Given the description of an element on the screen output the (x, y) to click on. 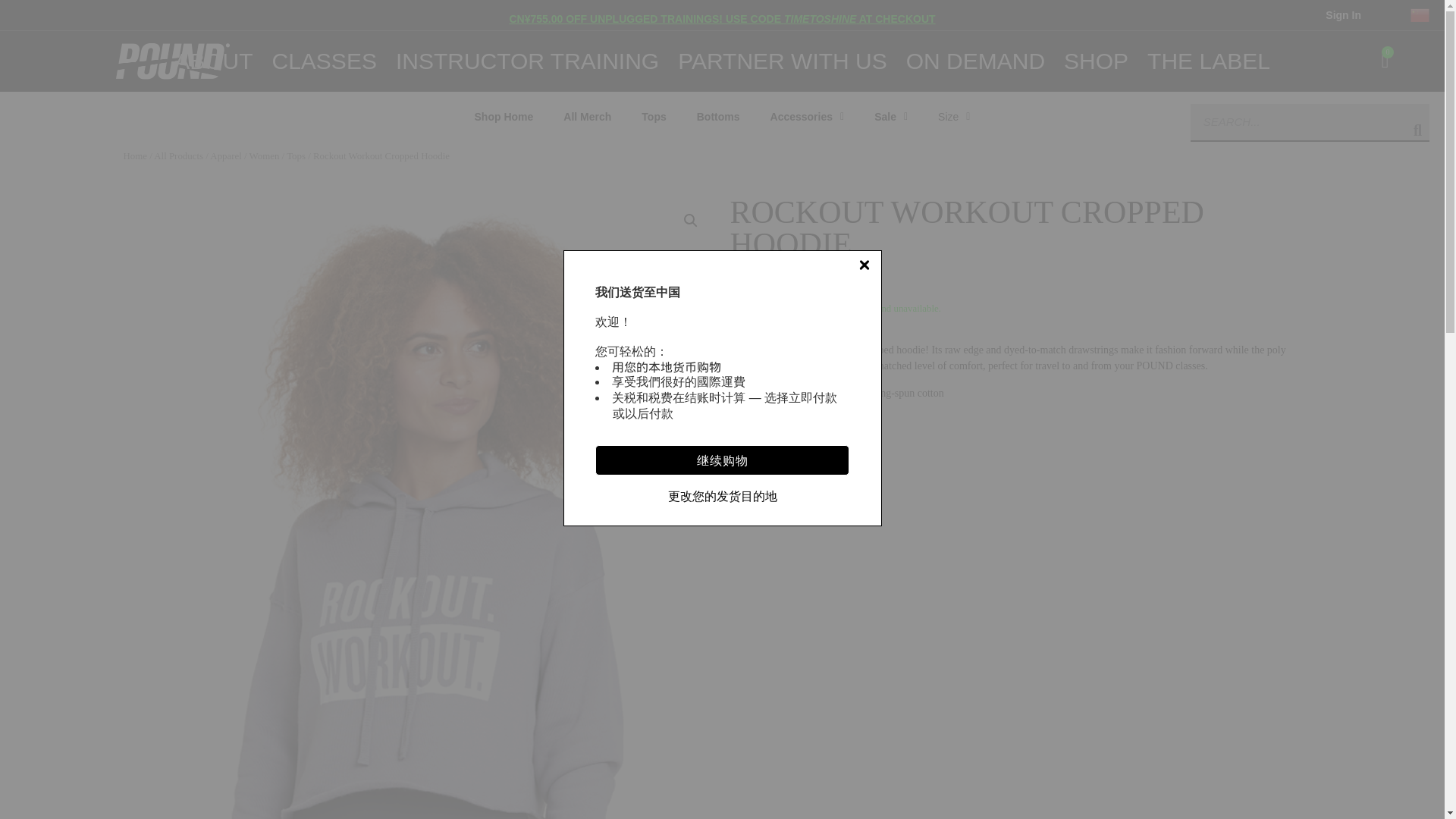
PARTNER WITH US (782, 61)
CLASSES (322, 61)
INSTRUCTOR TRAINING (527, 61)
SHOP (1096, 61)
ON DEMAND (975, 61)
THE LABEL (1208, 61)
Sign In (1342, 15)
ABOUT (212, 61)
